Given the description of an element on the screen output the (x, y) to click on. 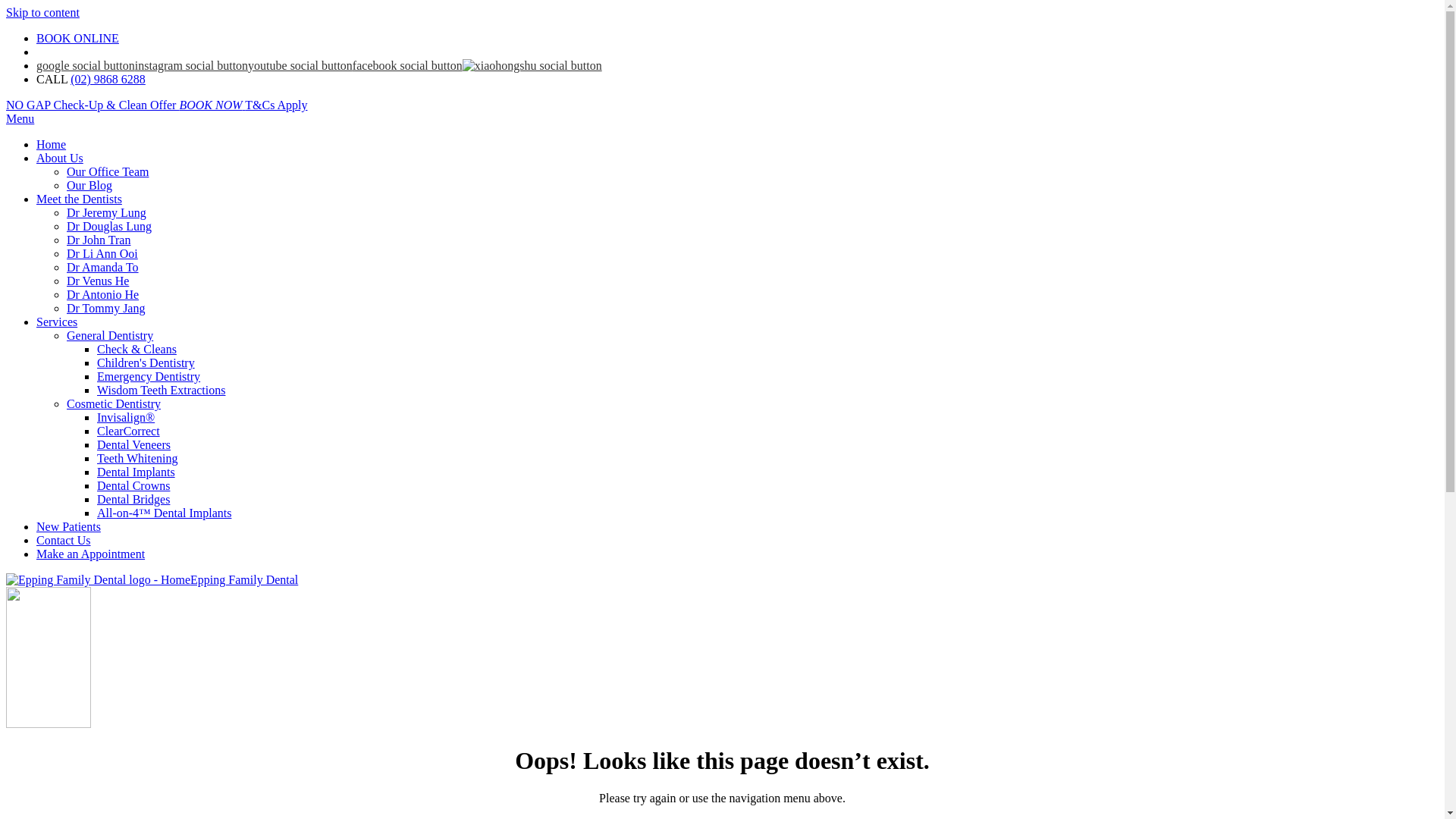
Our Blog Element type: text (89, 184)
Dental Bridges Element type: text (133, 498)
Dr Li Ann Ooi Element type: text (102, 253)
Emergency Dentistry Element type: text (148, 376)
ClearCorrect Element type: text (128, 430)
About Us Element type: text (59, 157)
Our Office Team Element type: text (107, 171)
BOOK ONLINE Element type: text (77, 37)
Dr Douglas Lung Element type: text (108, 225)
Dr Amanda To Element type: text (102, 266)
Services Element type: text (56, 321)
Epping Family Dental Element type: text (152, 579)
Dr Tommy Jang Element type: text (105, 307)
(02) 9868 6288 Element type: text (107, 78)
Menu Element type: text (20, 118)
Check & Cleans Element type: text (136, 348)
Children's Dentistry Element type: text (145, 362)
New Patients Element type: text (68, 526)
Make an Appointment Element type: text (90, 553)
Home Element type: text (50, 144)
Dr Venus He Element type: text (97, 280)
Dental Implants Element type: text (136, 471)
Dr John Tran Element type: text (98, 239)
youtube social button Element type: text (299, 65)
Cosmetic Dentistry Element type: text (113, 403)
instagram social button Element type: text (190, 65)
google social button Element type: text (85, 65)
facebook social button Element type: text (407, 65)
Dr Jeremy Lung Element type: text (106, 212)
General Dentistry Element type: text (109, 335)
Dental Crowns Element type: text (133, 485)
Wisdom Teeth Extractions Element type: text (161, 389)
Meet the Dentists Element type: text (79, 198)
Contact Us Element type: text (63, 539)
Dr Antonio He Element type: text (102, 294)
Dental Veneers Element type: text (133, 444)
Skip to content Element type: text (42, 12)
Teeth Whitening Element type: text (137, 457)
NO GAP Check-Up & Clean Offer BOOK NOW T&Cs Apply Element type: text (156, 104)
